Given the description of an element on the screen output the (x, y) to click on. 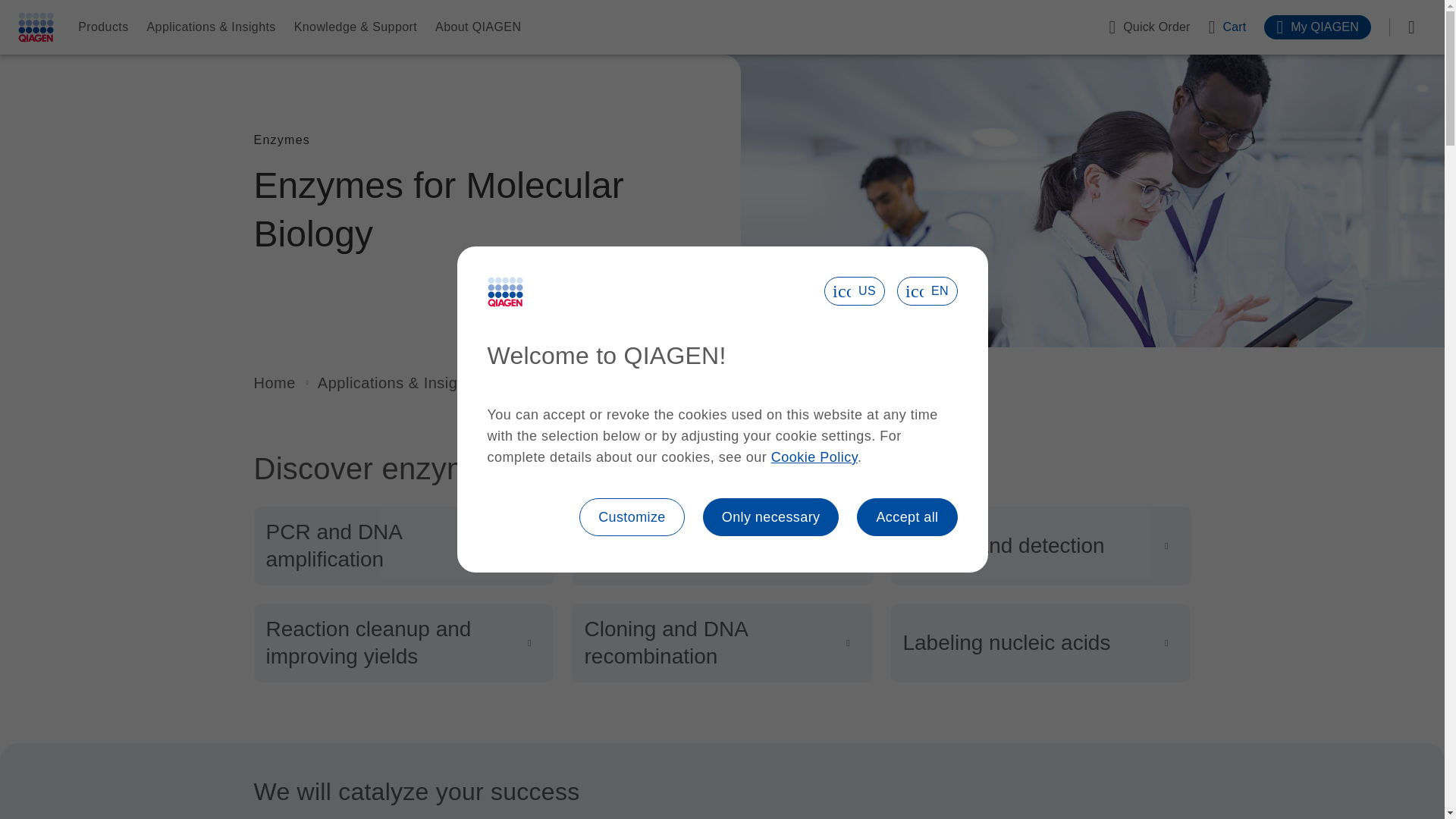
Customize (631, 516)
Cart (1227, 27)
About QIAGEN (478, 27)
My QIAGEN (1317, 27)
Products (103, 27)
Products (103, 27)
Home (274, 382)
About QIAGEN (478, 27)
Cart (1227, 27)
Enzymes for Molecular Biology (610, 382)
